Given the description of an element on the screen output the (x, y) to click on. 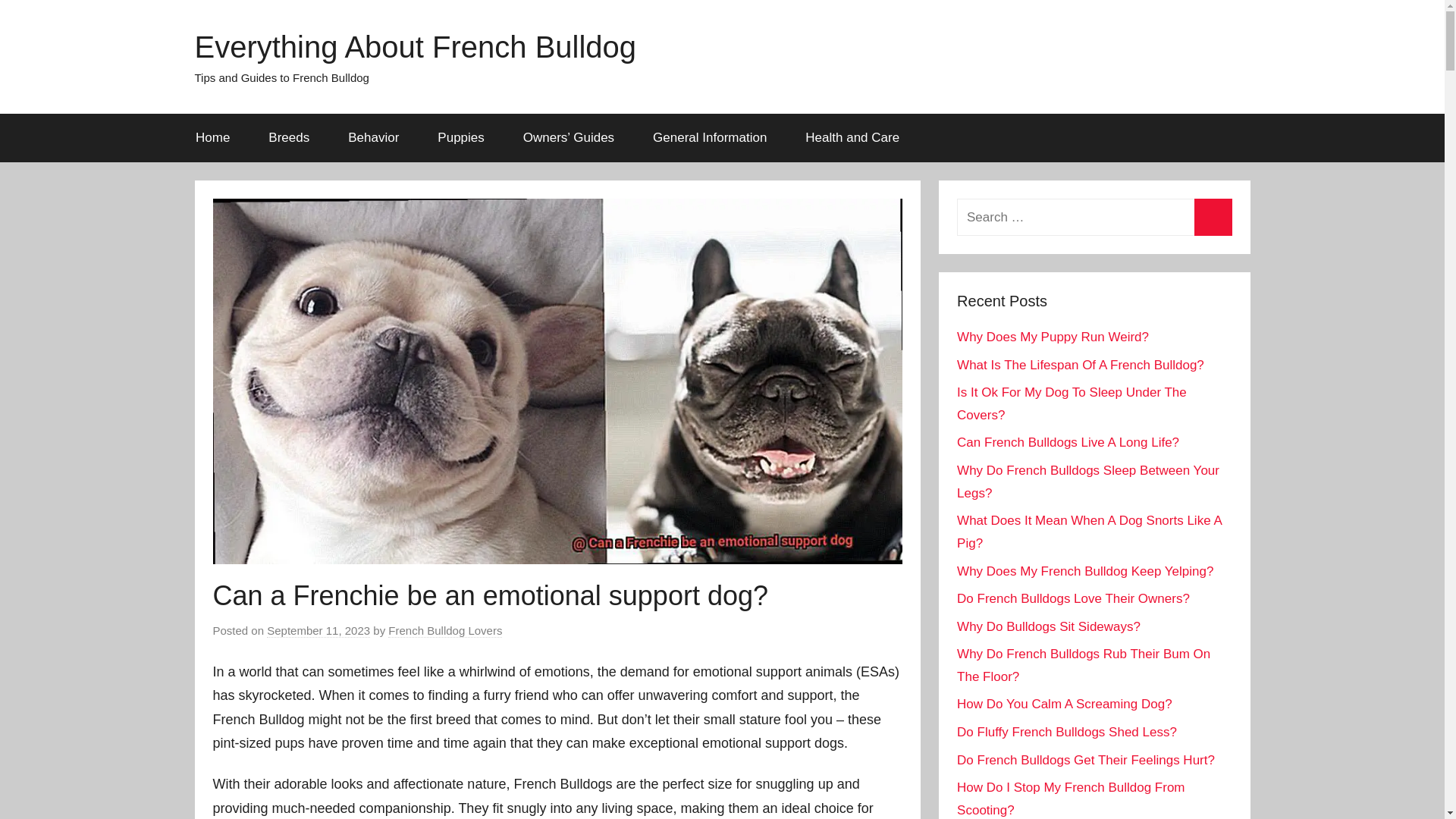
French Bulldog Lovers (445, 631)
General Information (709, 137)
Puppies (461, 137)
Behavior (374, 137)
Search for: (1093, 217)
Home (212, 137)
Breeds (288, 137)
View all posts by French Bulldog Lovers (445, 631)
Everything About French Bulldog (414, 46)
Health and Care (852, 137)
September 11, 2023 (317, 631)
